Given the description of an element on the screen output the (x, y) to click on. 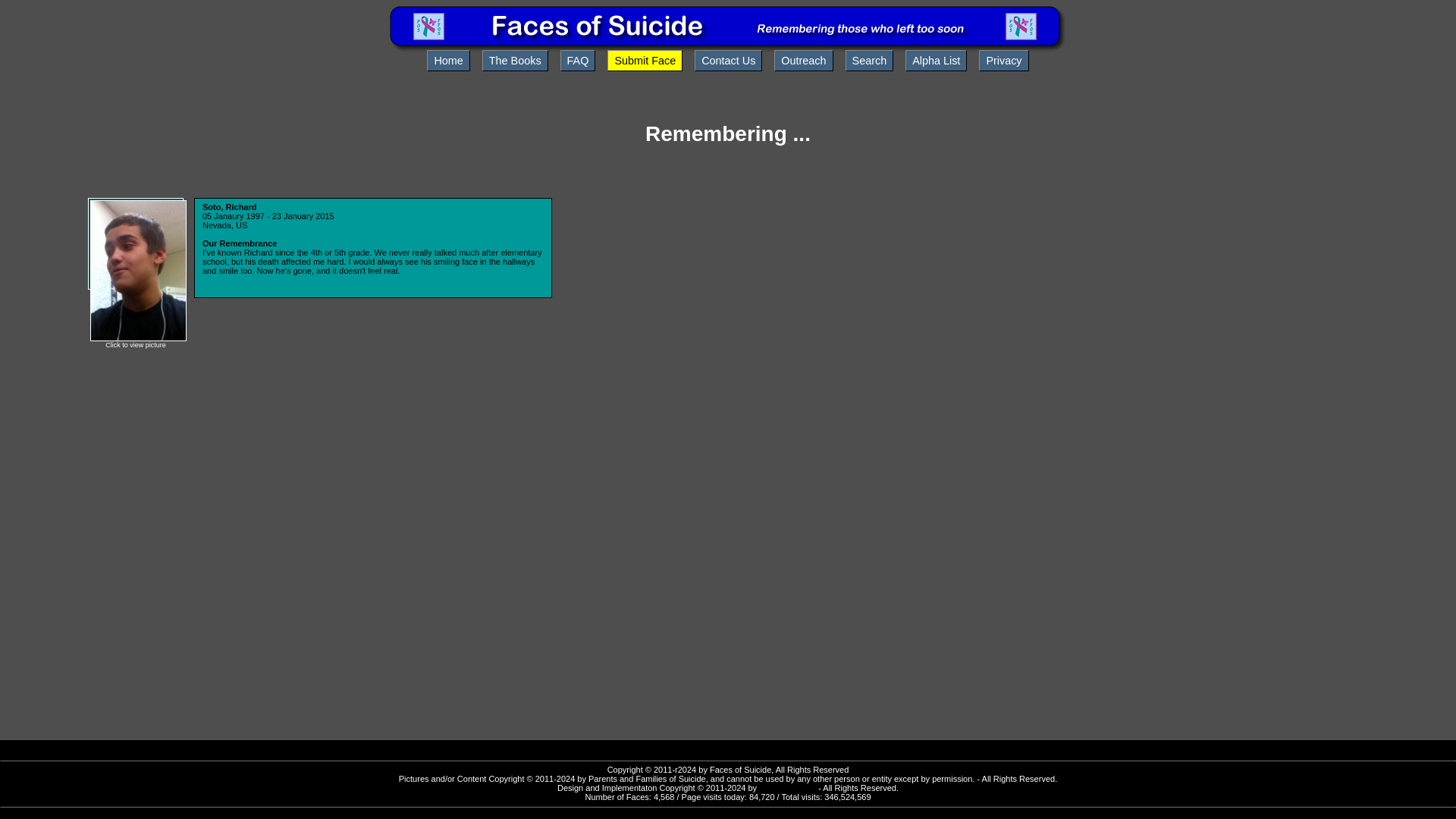
The Books (514, 60)
FAQ (577, 60)
CellarWeb.com (786, 787)
click to view big picture in new window (138, 338)
Home (447, 60)
Alpha List (935, 60)
Faces of Suicide (727, 47)
Outreach (803, 60)
Submit Face (644, 60)
Contact Us (727, 60)
